Given the description of an element on the screen output the (x, y) to click on. 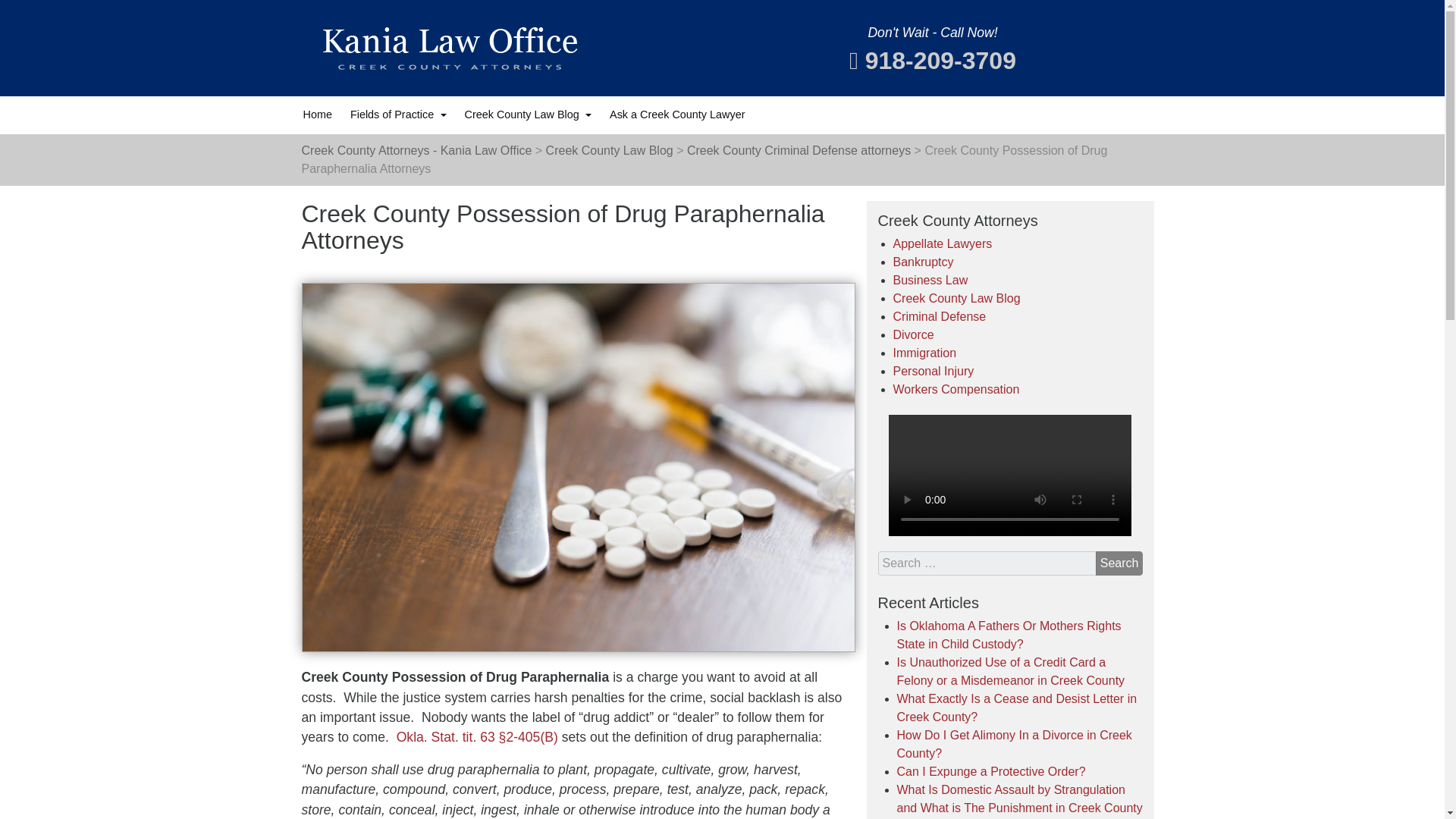
Creek County Law Blog (528, 115)
Kania Law Office - Creek County, OK (449, 47)
Ask a Creek County Lawyer (676, 115)
918-209-3709 (932, 60)
Creek County Law Blog (528, 115)
Creek County Attorneys - Kania Law Office (416, 150)
Creek County Law Blog (609, 150)
Fields of Practice (398, 115)
Creek County Criminal Defense attorneys (799, 150)
Home (317, 115)
